Given the description of an element on the screen output the (x, y) to click on. 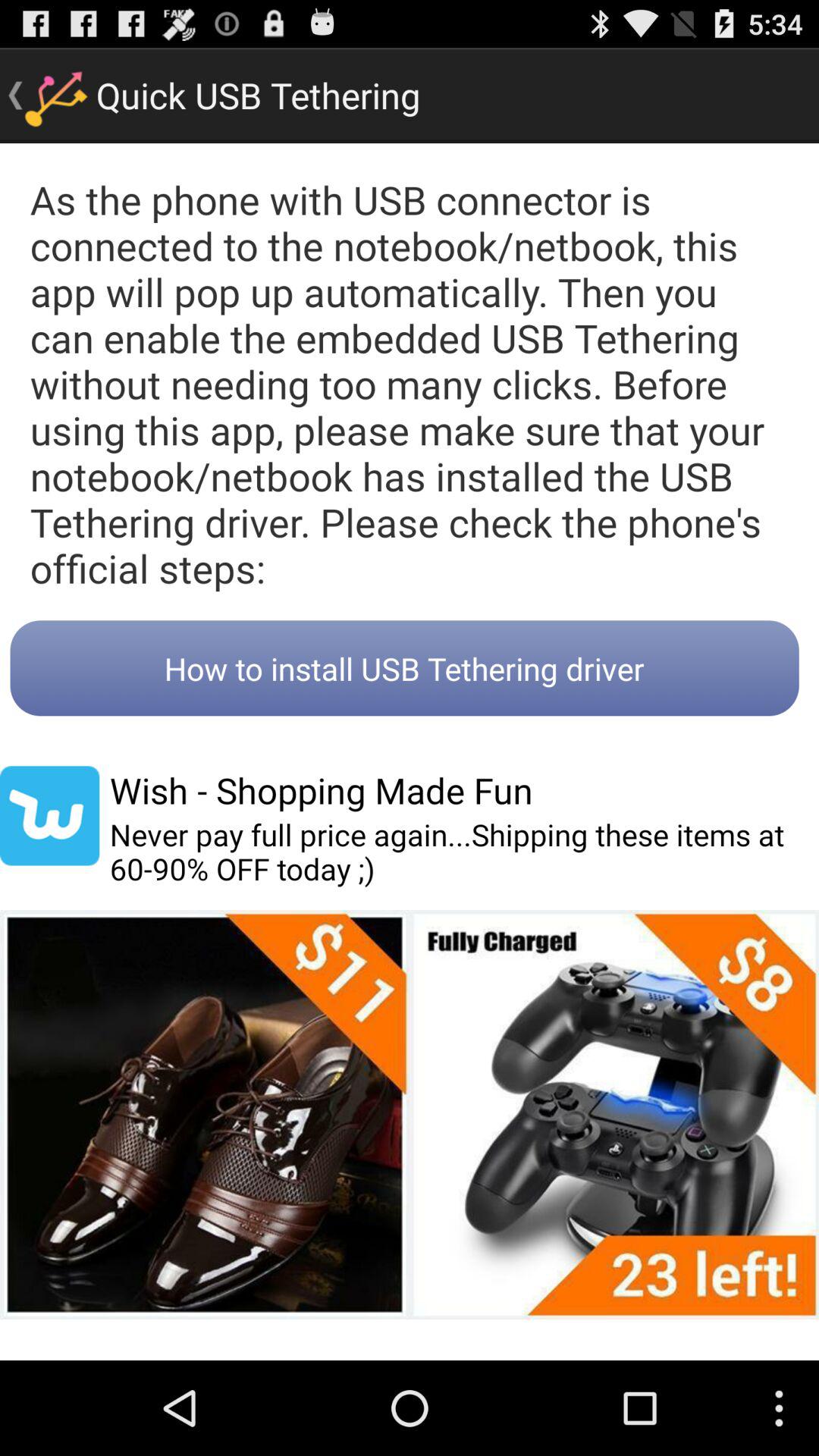
turn on the item below the never pay full item (409, 1114)
